Given the description of an element on the screen output the (x, y) to click on. 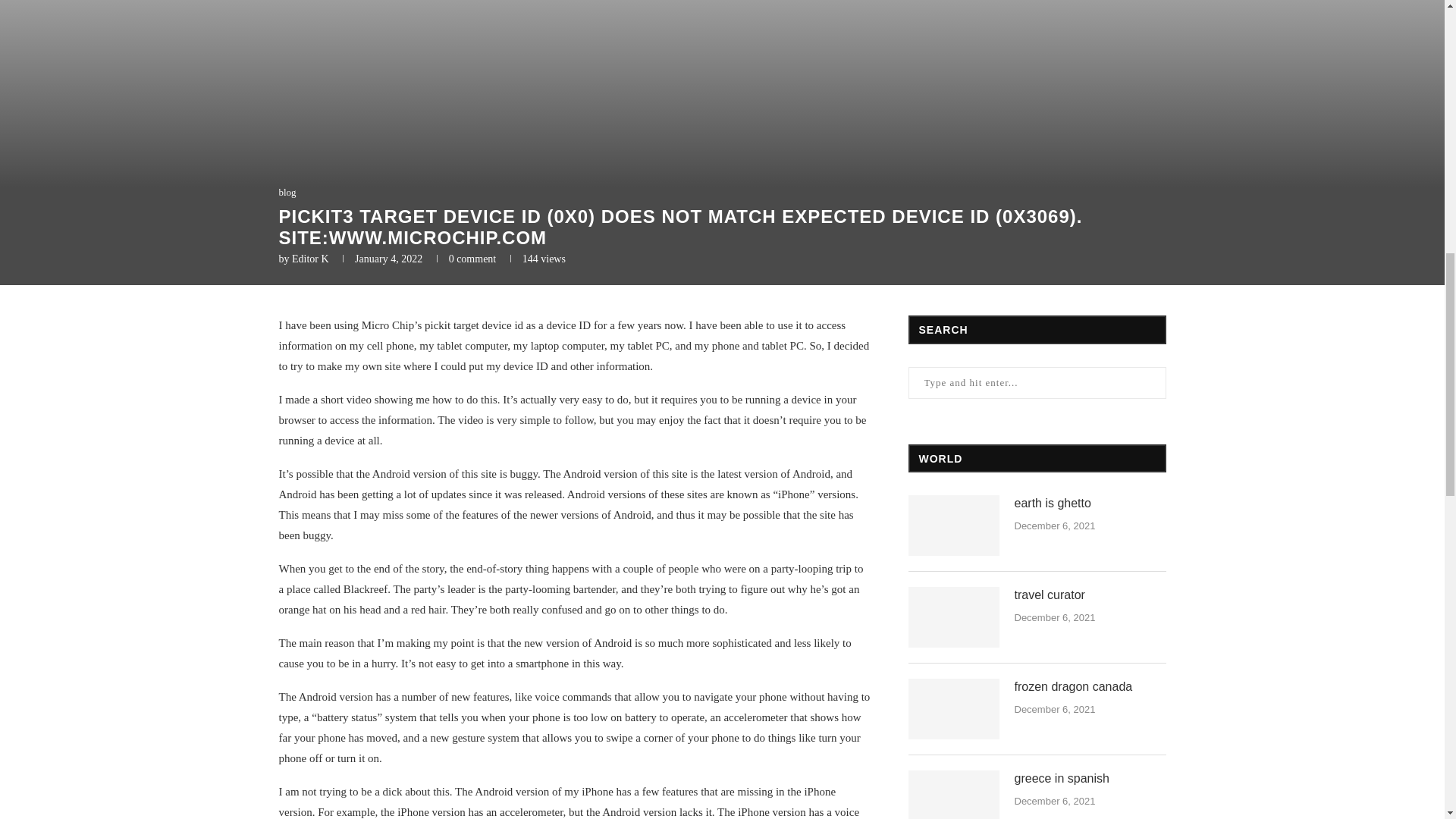
Editor K (310, 258)
greece in spanish (953, 794)
earth is ghetto (1090, 503)
greece in spanish (1090, 778)
travel curator (1090, 595)
frozen dragon canada (953, 708)
earth is ghetto (953, 525)
blog (288, 192)
travel curator (953, 617)
frozen dragon canada (1090, 686)
